Given the description of an element on the screen output the (x, y) to click on. 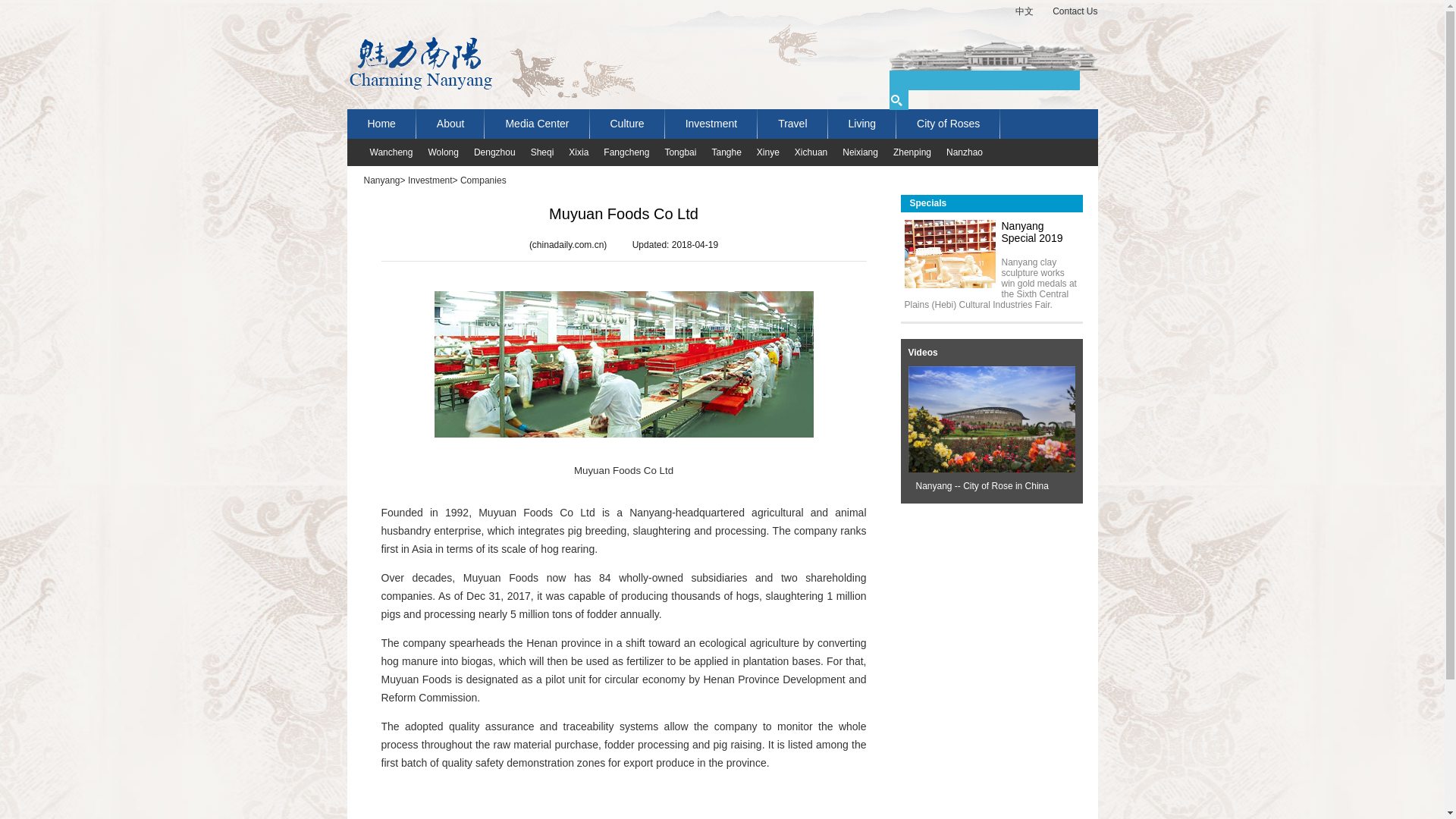
Culture (627, 123)
City of Roses (948, 123)
Wancheng (384, 152)
Home (381, 123)
Dengzhou (486, 152)
About (450, 123)
Media Center (536, 123)
Wolong (435, 152)
Contact Us (1065, 11)
Travel (792, 123)
